Given the description of an element on the screen output the (x, y) to click on. 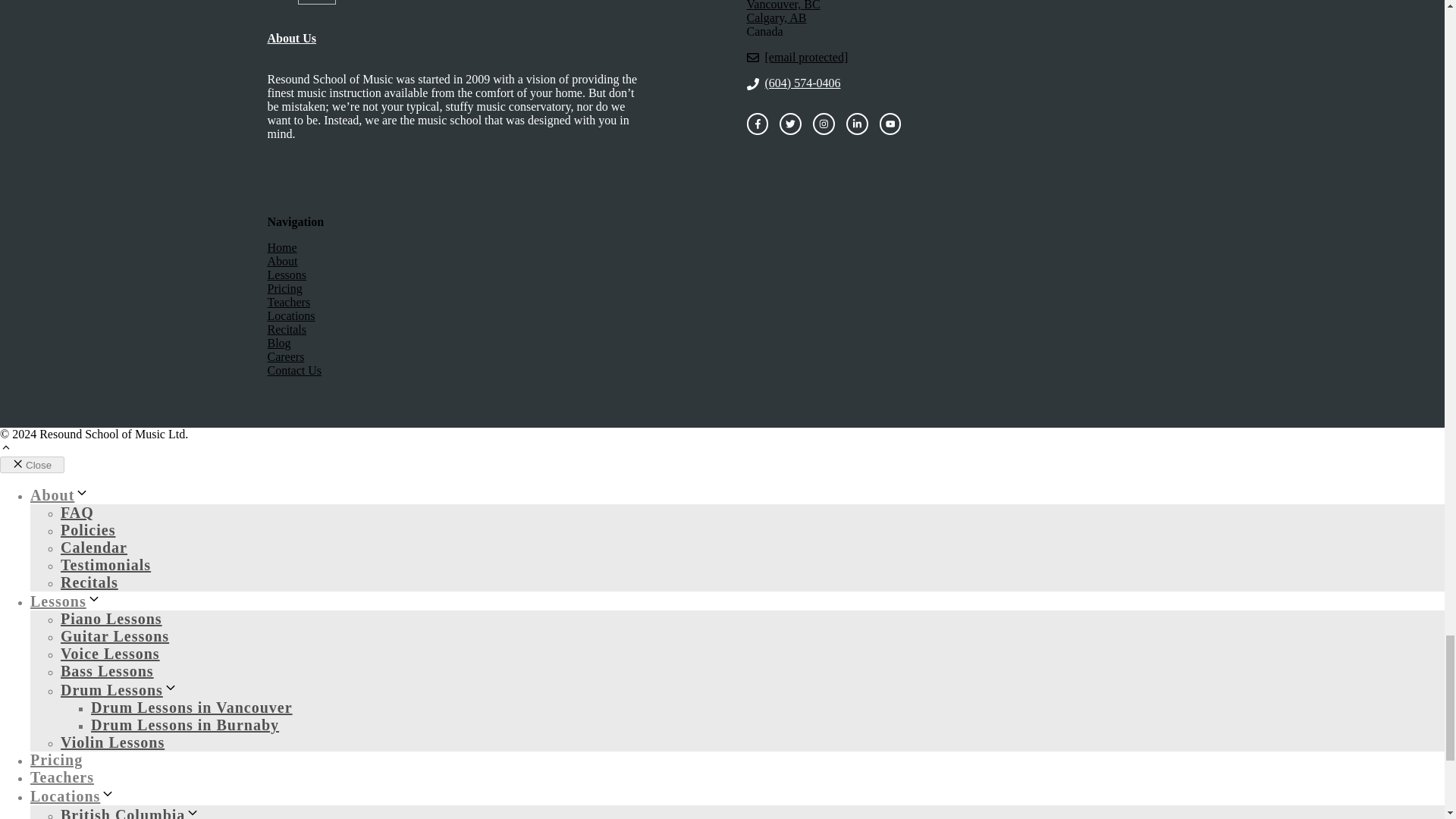
Scroll back to top (5, 449)
